Given the description of an element on the screen output the (x, y) to click on. 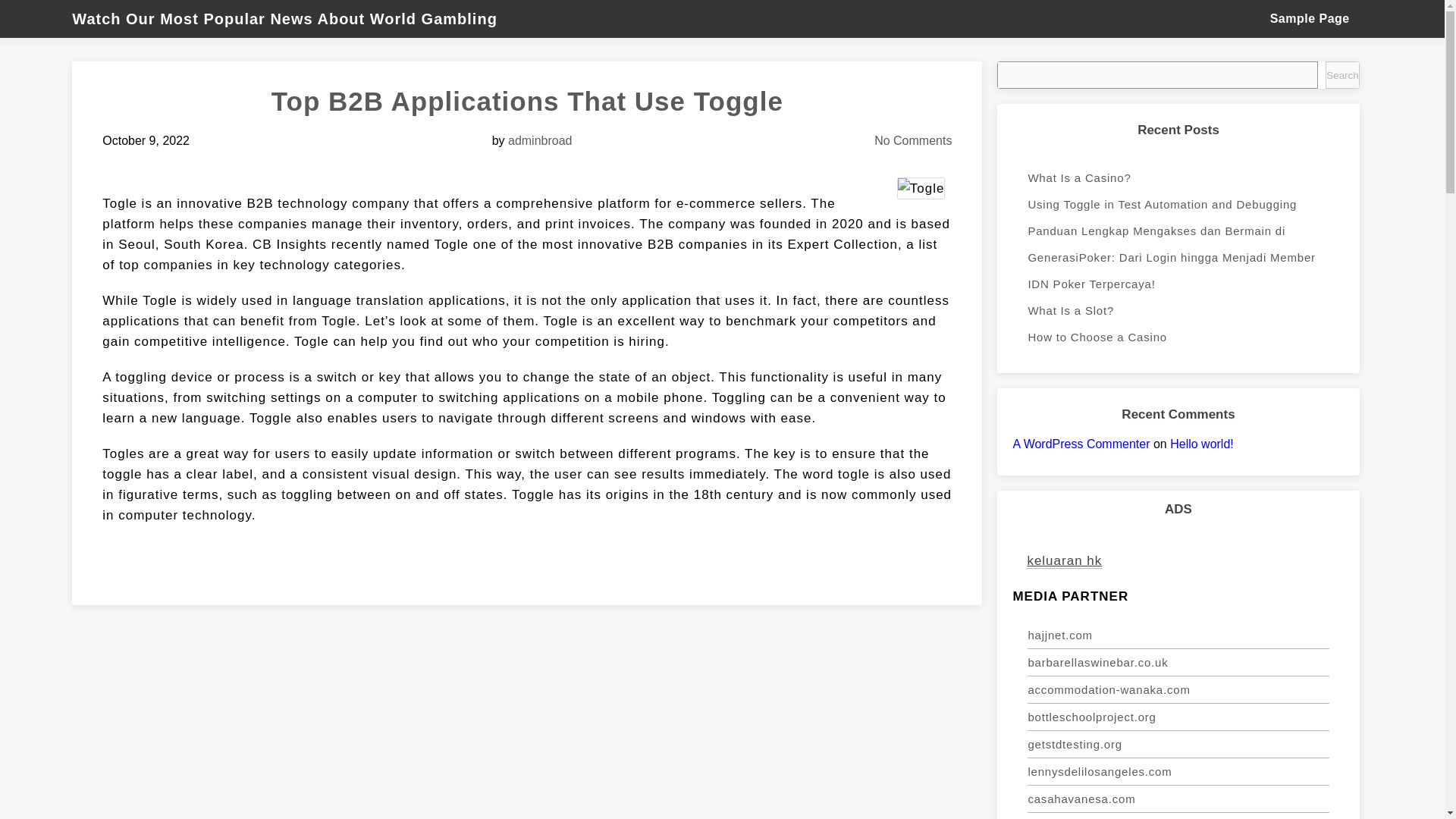
Posts by adminbroad (540, 140)
What Is a Casino? (1177, 177)
A WordPress Commenter (1080, 443)
Watch Our Most Popular News About World Gambling (291, 18)
Using Toggle in Test Automation and Debugging (1177, 203)
Search (1341, 74)
keluaran hk (1064, 560)
casahavanesa.com (1177, 799)
adminbroad (540, 140)
